Given the description of an element on the screen output the (x, y) to click on. 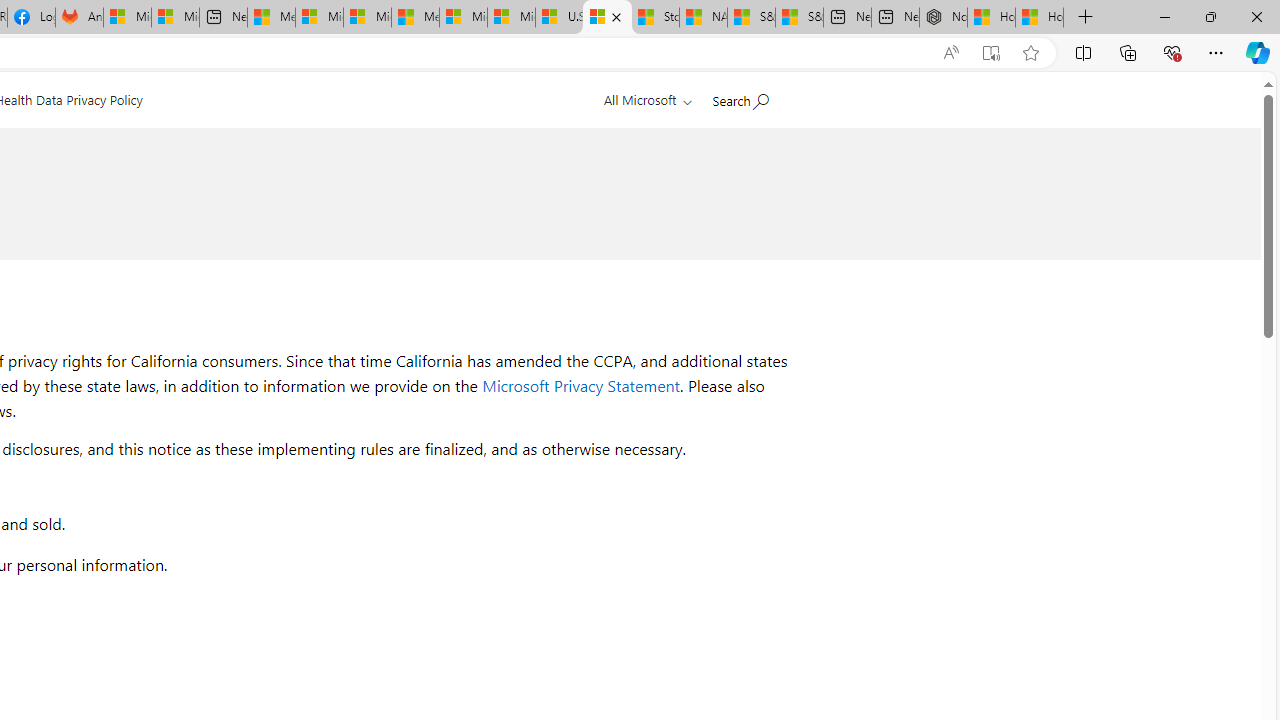
S&P 500, Nasdaq end lower, weighed by Nvidia dip | Watch (799, 17)
Enter Immersive Reader (F9) (991, 53)
